Given the description of an element on the screen output the (x, y) to click on. 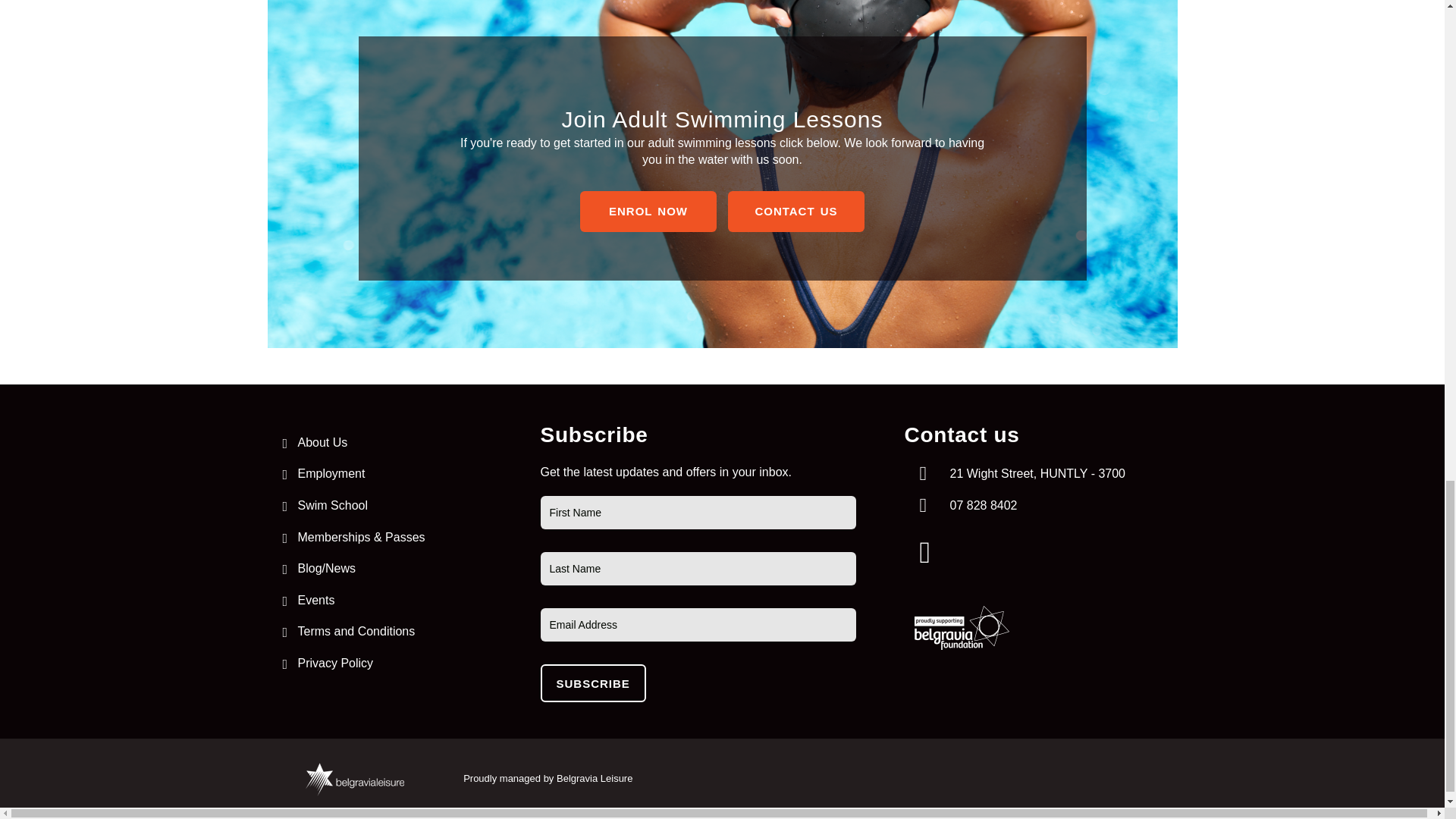
subscribe (592, 682)
